Given the description of an element on the screen output the (x, y) to click on. 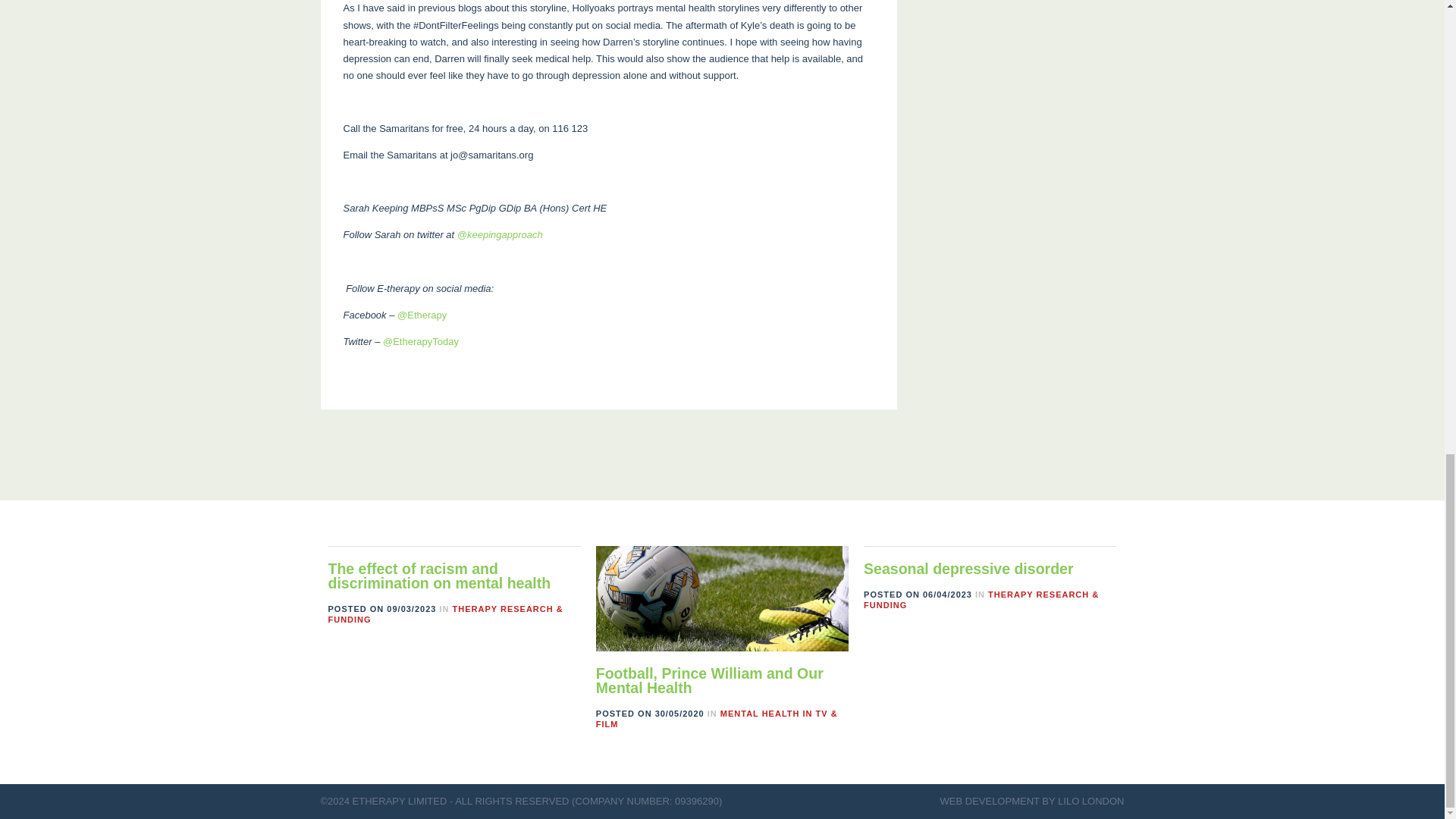
Football, Prince William and Our Mental Health (709, 680)
Seasonal depressive disorder (968, 568)
The effect of racism and discrimination on mental health (438, 576)
WEB DEVELOPMENT BY LILO LONDON (1032, 800)
